Given the description of an element on the screen output the (x, y) to click on. 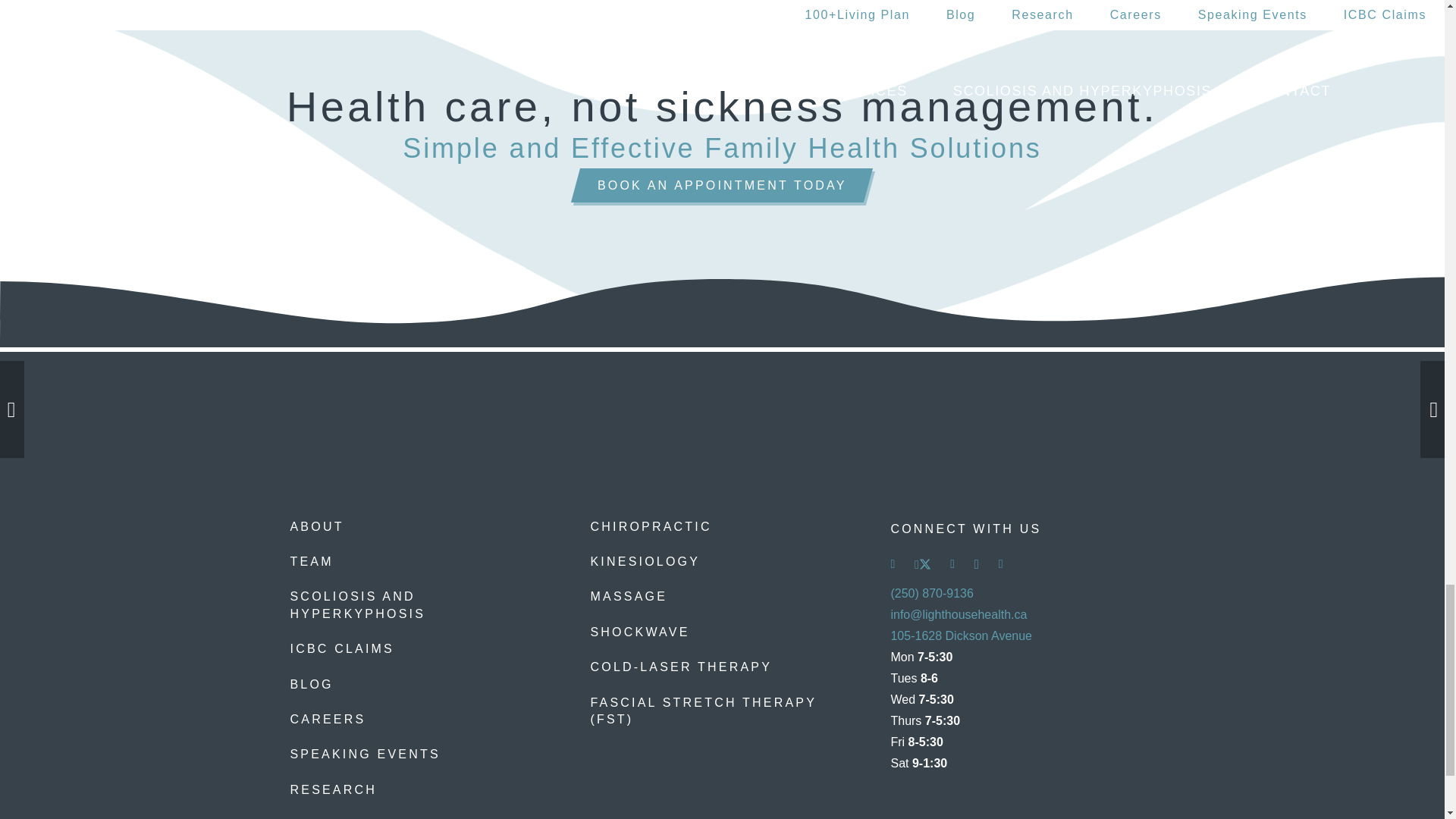
Twitter (922, 563)
